Given the description of an element on the screen output the (x, y) to click on. 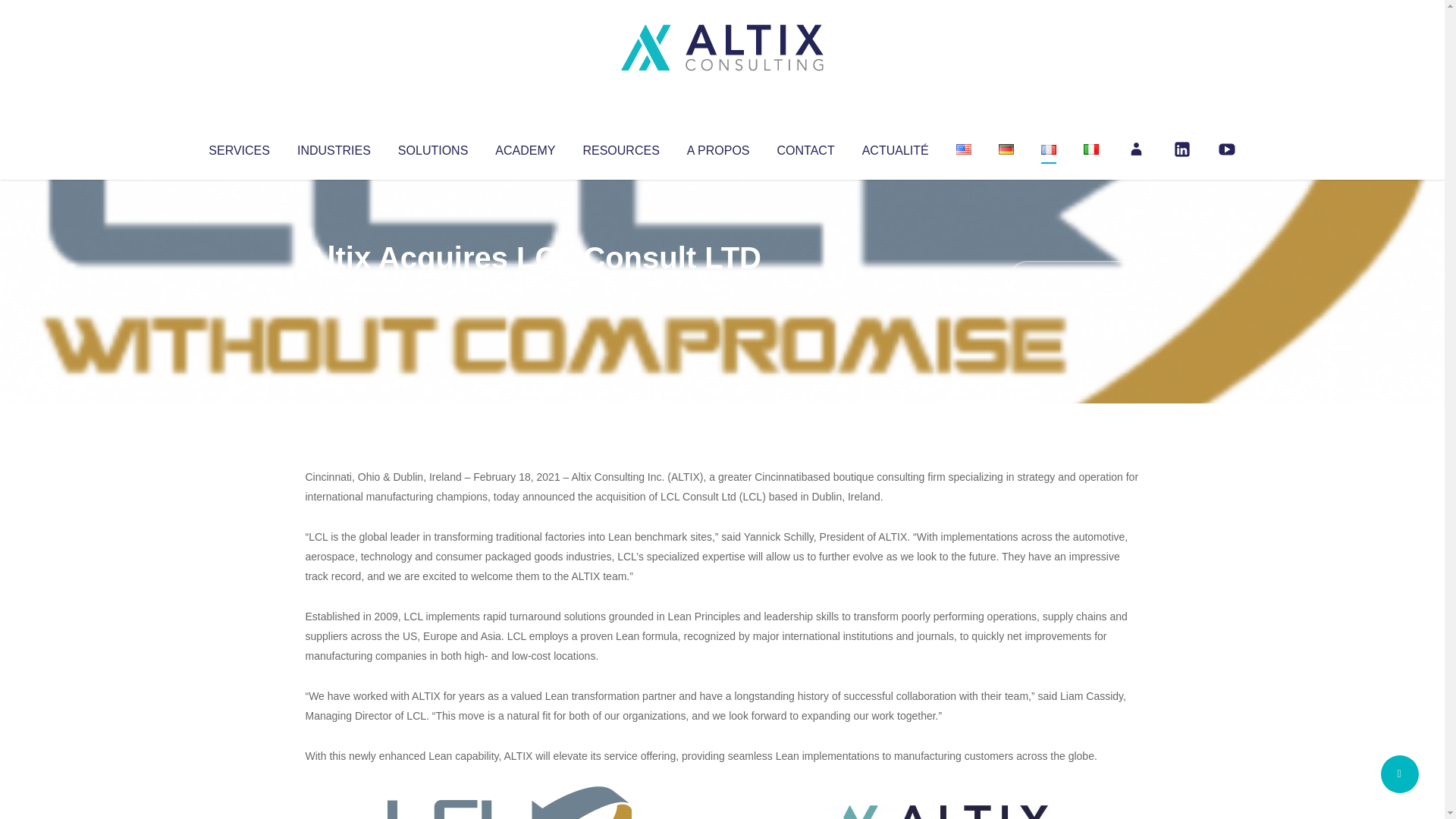
ACADEMY (524, 146)
No Comments (1073, 278)
Uncategorized (530, 287)
SERVICES (238, 146)
Altix (333, 287)
INDUSTRIES (334, 146)
A PROPOS (718, 146)
Articles par Altix (333, 287)
RESOURCES (620, 146)
SOLUTIONS (432, 146)
